Given the description of an element on the screen output the (x, y) to click on. 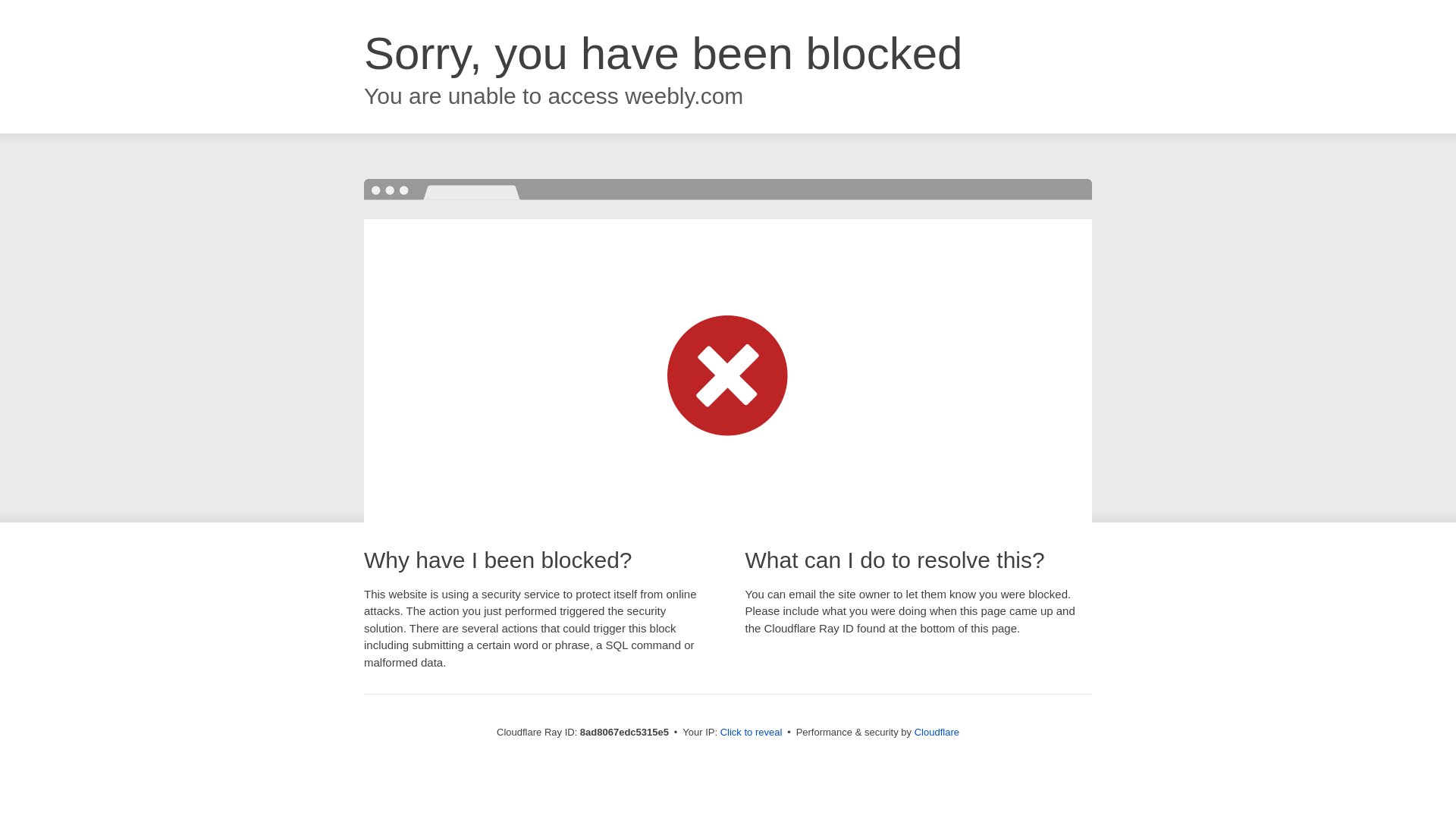
Cloudflare (936, 731)
Click to reveal (751, 732)
